Given the description of an element on the screen output the (x, y) to click on. 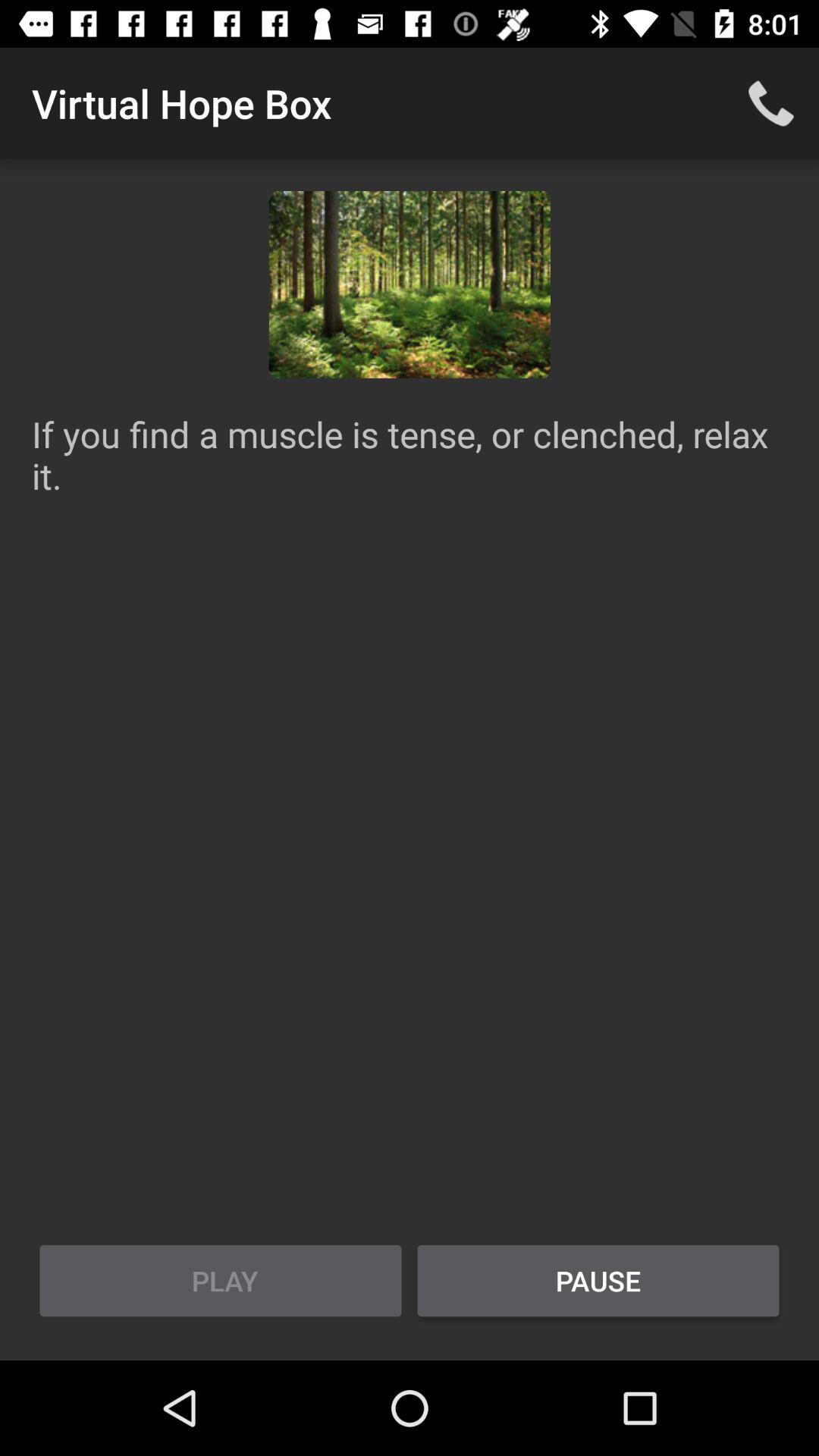
click the item to the right of play item (598, 1280)
